Given the description of an element on the screen output the (x, y) to click on. 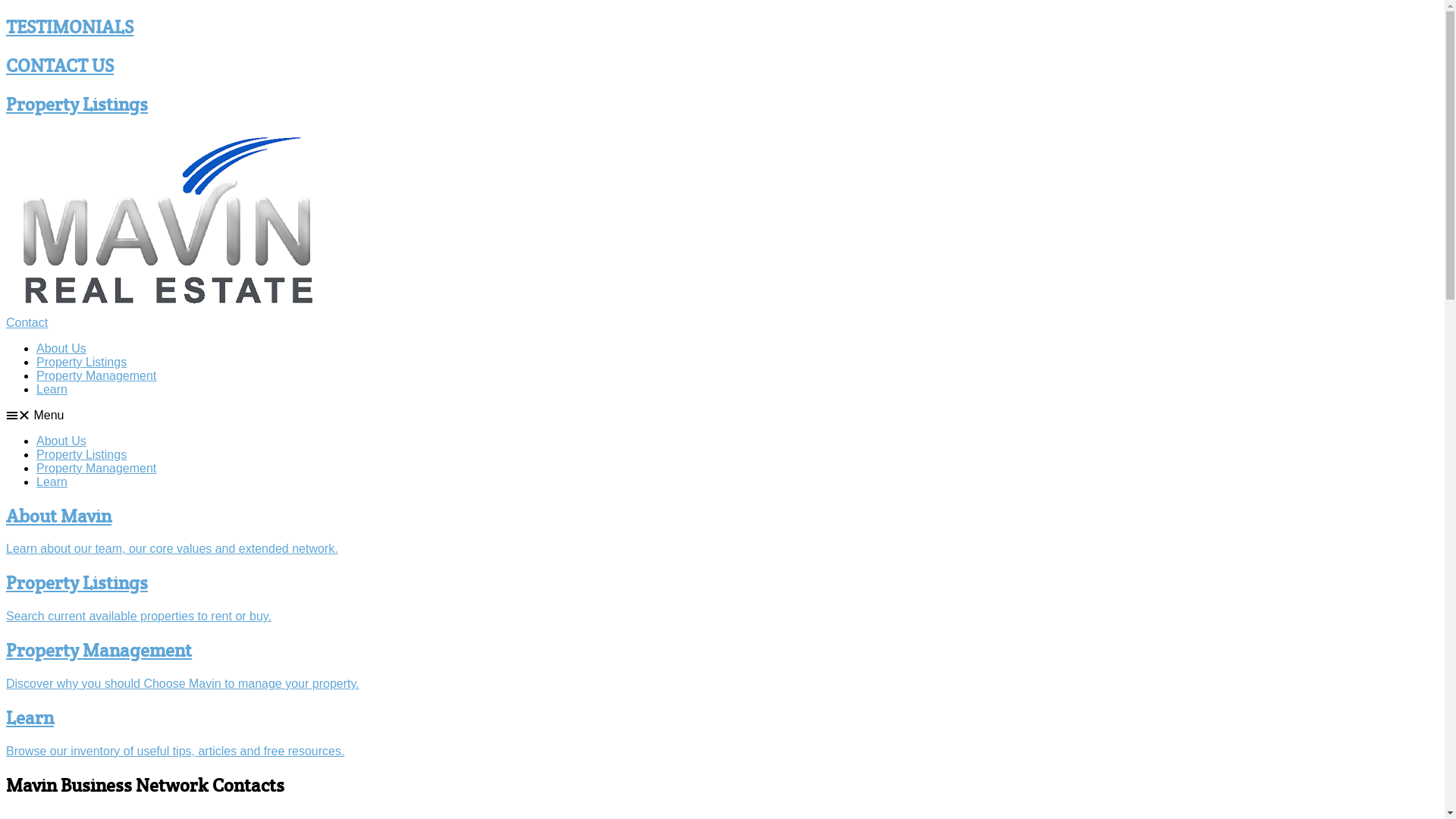
Learn Element type: text (51, 388)
About Us Element type: text (61, 348)
Contact Element type: text (26, 322)
Property Listings Element type: text (81, 361)
TESTIMONIALS Element type: text (69, 26)
Property Management Element type: text (98, 650)
Property Management Element type: text (96, 467)
Learn Element type: text (51, 481)
Property Listings Element type: text (76, 582)
Property Listings Element type: text (76, 104)
Property Management Element type: text (96, 375)
Learn Element type: text (29, 717)
Learn about our team, our core values and extended network. Element type: text (172, 548)
CONTACT US Element type: text (59, 65)
Property Listings Element type: text (81, 454)
About Mavin Element type: text (58, 515)
About Us Element type: text (61, 440)
Search current available properties to rent or buy. Element type: text (138, 615)
mavin240 Mavin Real Estate Element type: hover (170, 222)
